Given the description of an element on the screen output the (x, y) to click on. 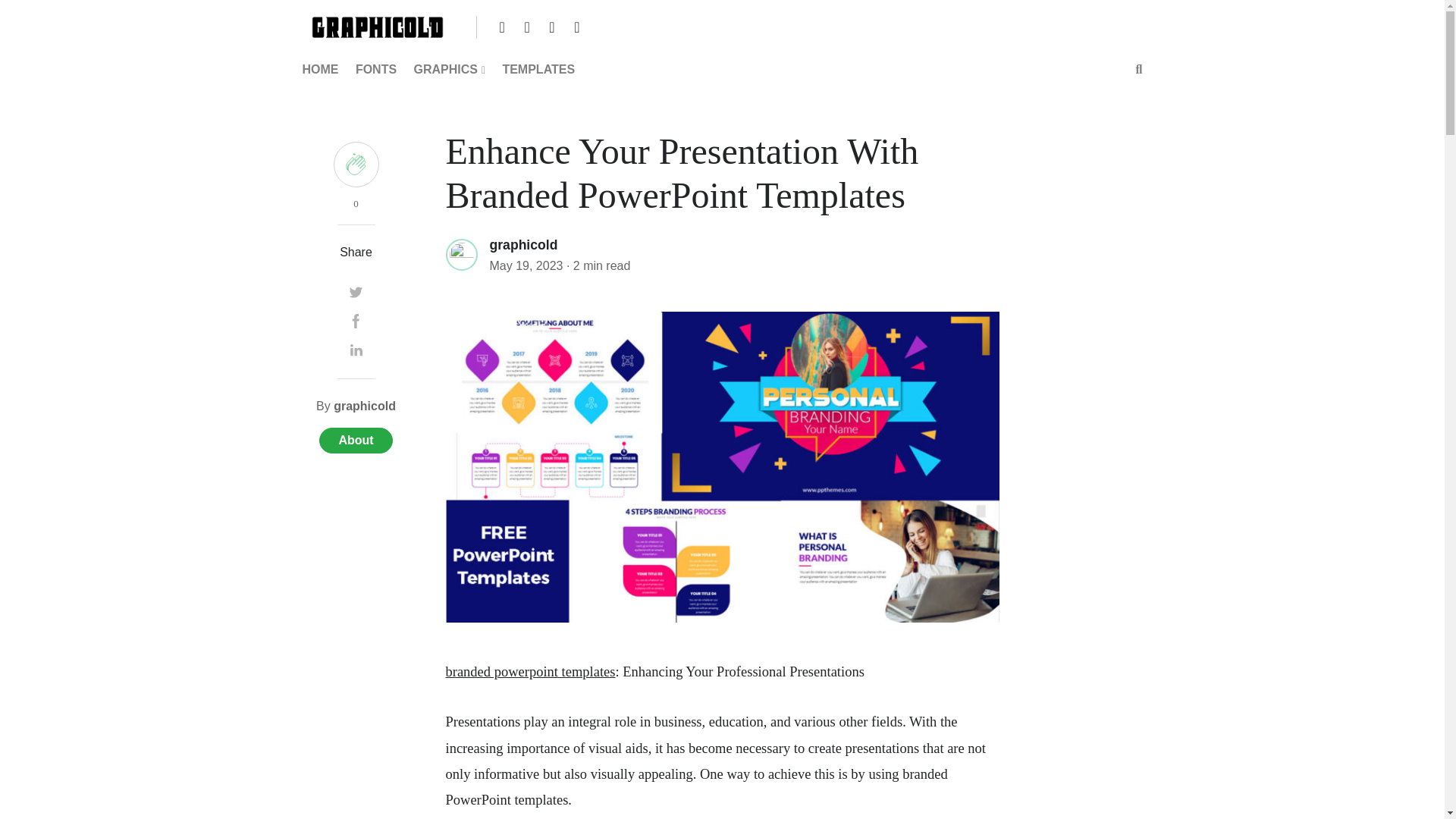
GRAPHICS (448, 69)
HOME (323, 69)
TEMPLATES (538, 69)
Posts by graphicold (364, 405)
FONTS (376, 69)
graphicold (523, 243)
branded powerpoint templates (530, 671)
graphicold (364, 405)
About (354, 440)
Posts by graphicold (523, 244)
